Given the description of an element on the screen output the (x, y) to click on. 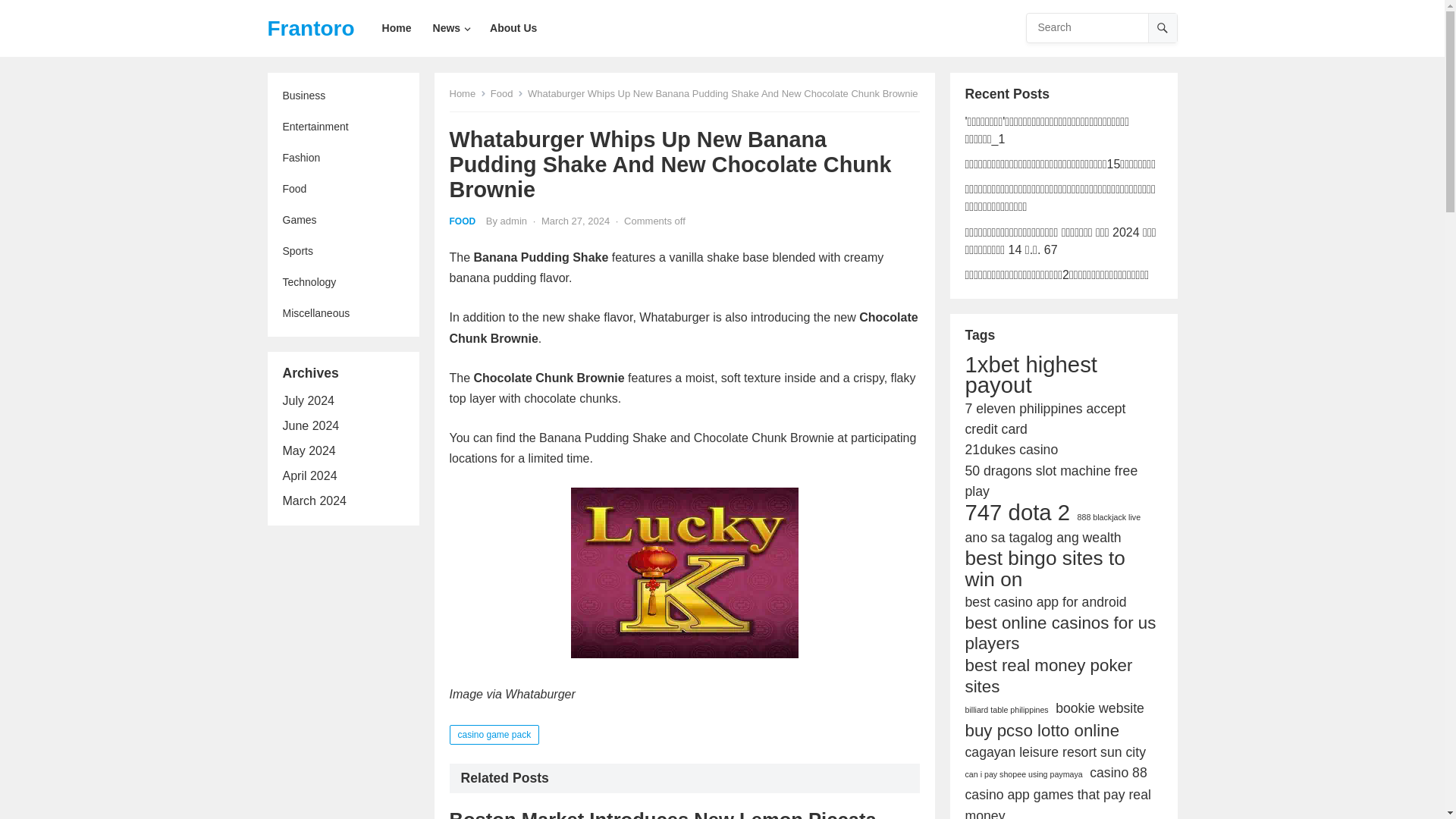
Miscellaneous (342, 313)
Home (467, 93)
Business (342, 95)
About Us (513, 28)
Fashion (342, 157)
May 2024 (308, 450)
Food (507, 93)
FOOD (462, 221)
Games (342, 219)
Entertainment (342, 126)
March 2024 (314, 500)
Home (396, 28)
July 2024 (308, 400)
Technology (342, 282)
